Given the description of an element on the screen output the (x, y) to click on. 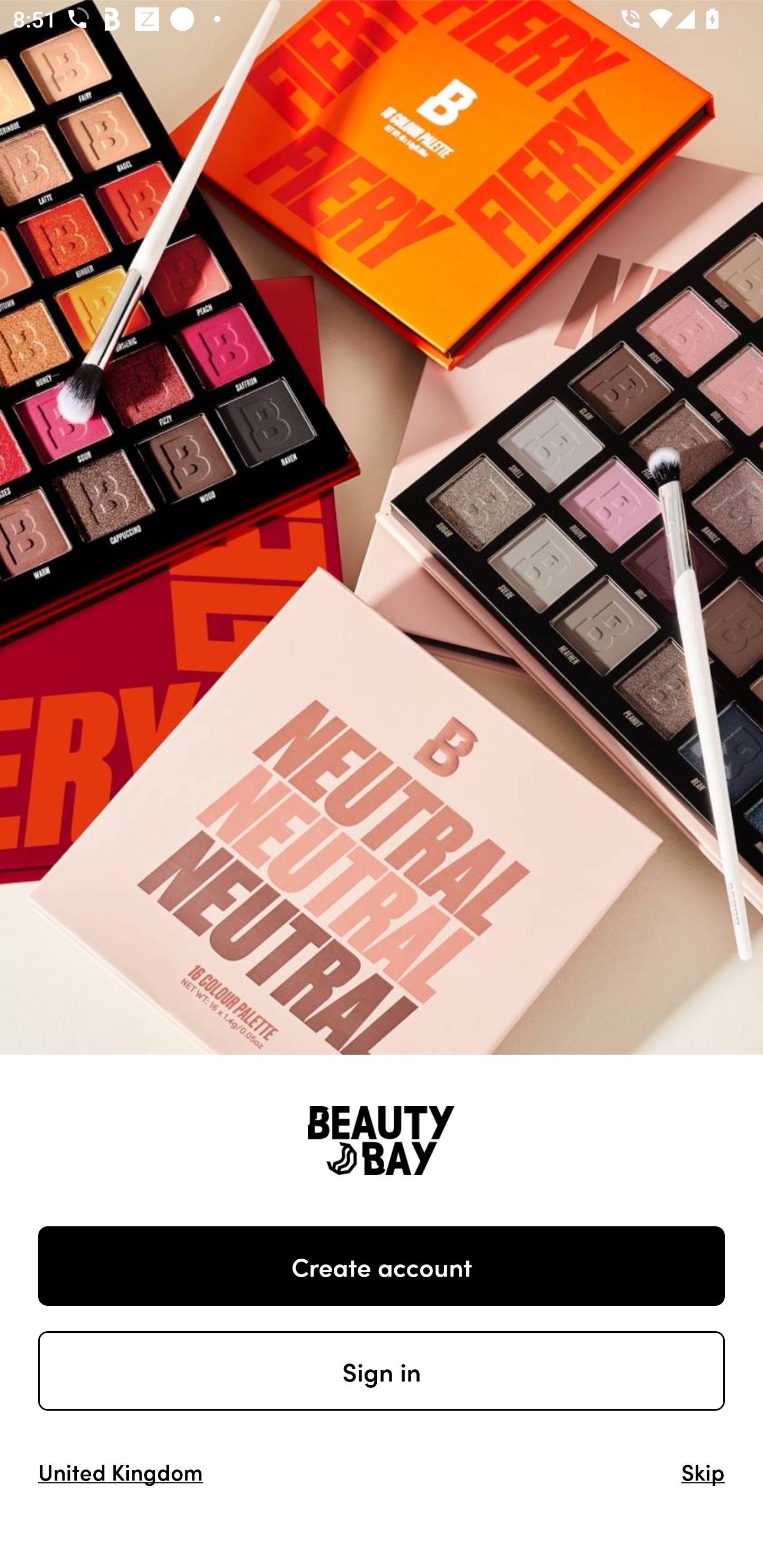
Create account (381, 1266)
Sign in (381, 1371)
United Kingdom (120, 1470)
Skip (702, 1470)
